Given the description of an element on the screen output the (x, y) to click on. 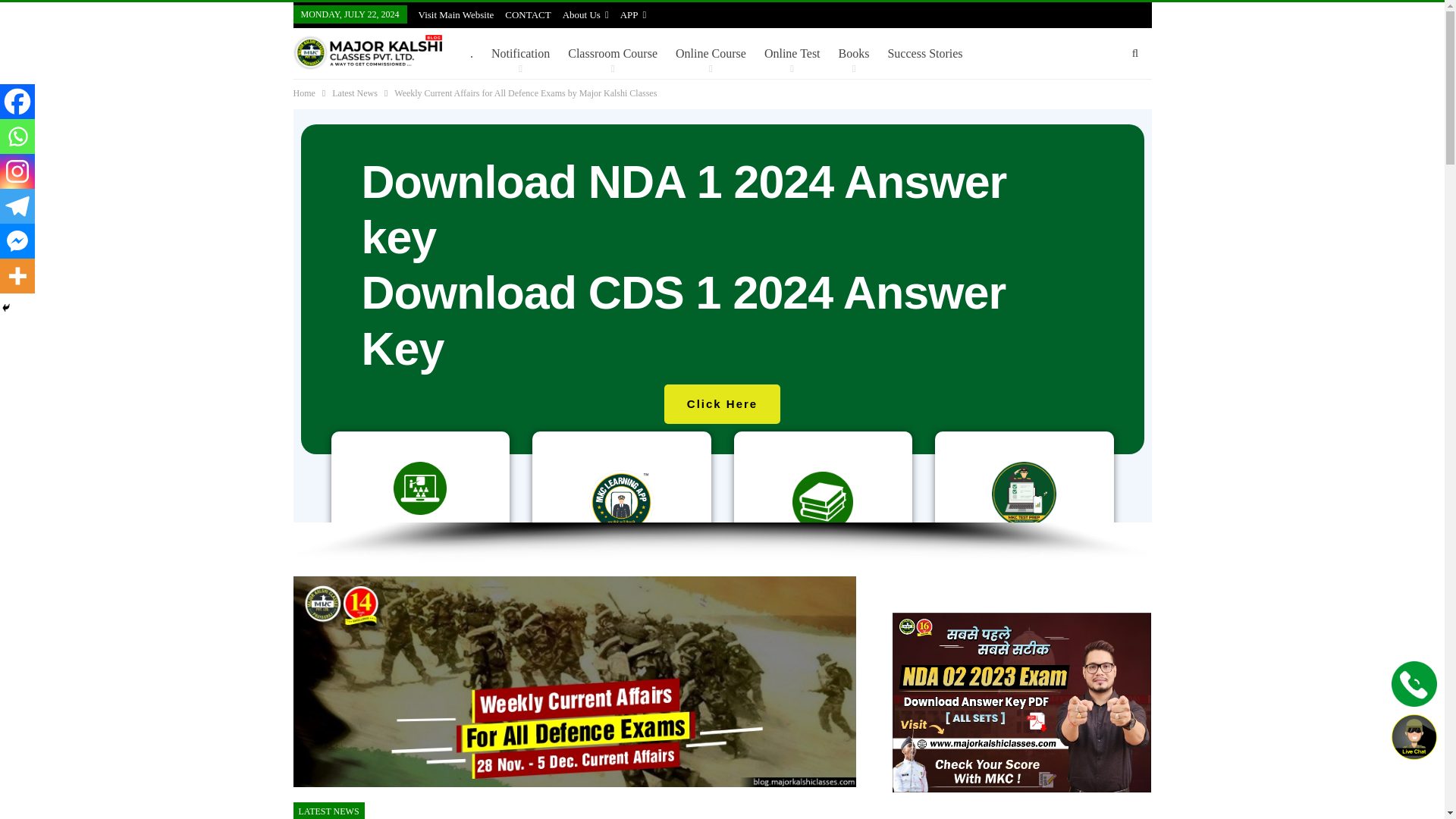
Hide (5, 307)
About Us (585, 14)
Whatsapp (17, 135)
Instagram (17, 171)
Telegram (17, 206)
. (471, 53)
Notification (520, 53)
Visit Main Website (457, 14)
APP (633, 14)
More (17, 275)
CONTACT (527, 14)
Facebook (17, 101)
